Given the description of an element on the screen output the (x, y) to click on. 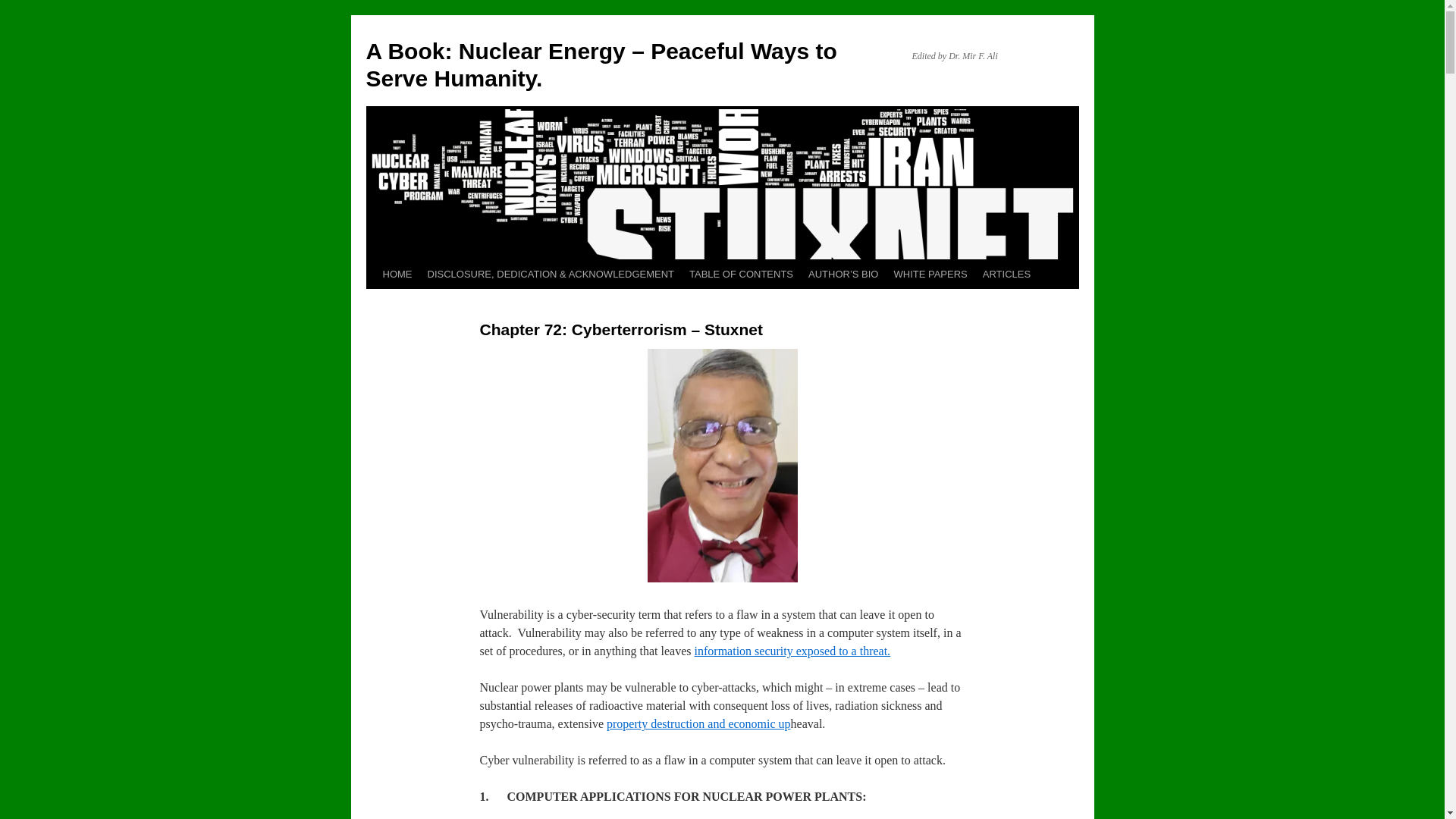
TABLE OF CONTENTS (740, 274)
information security exposed to a threat. (792, 650)
property destruction and economic up (698, 723)
ARTICLES (1006, 274)
WHITE PAPERS (929, 274)
HOME (396, 274)
